Given the description of an element on the screen output the (x, y) to click on. 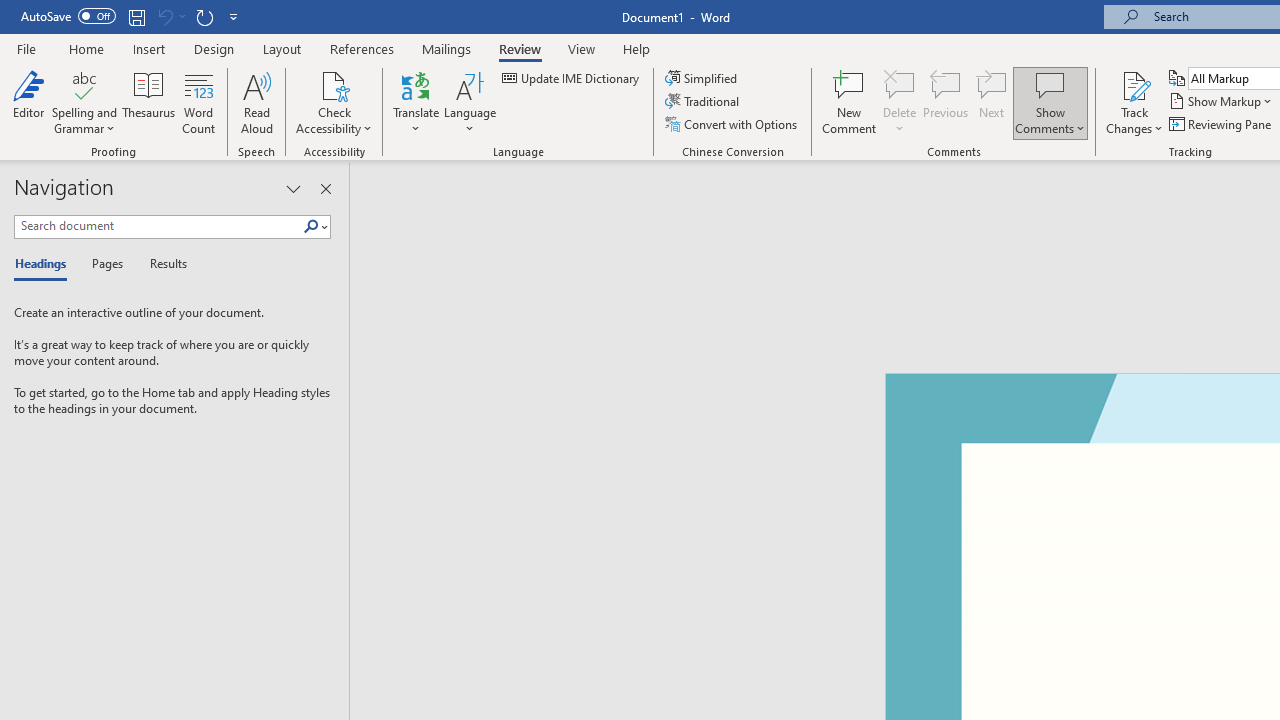
Translate (415, 102)
Show Comments (1050, 84)
Results (161, 264)
Show Markup (1222, 101)
